Given the description of an element on the screen output the (x, y) to click on. 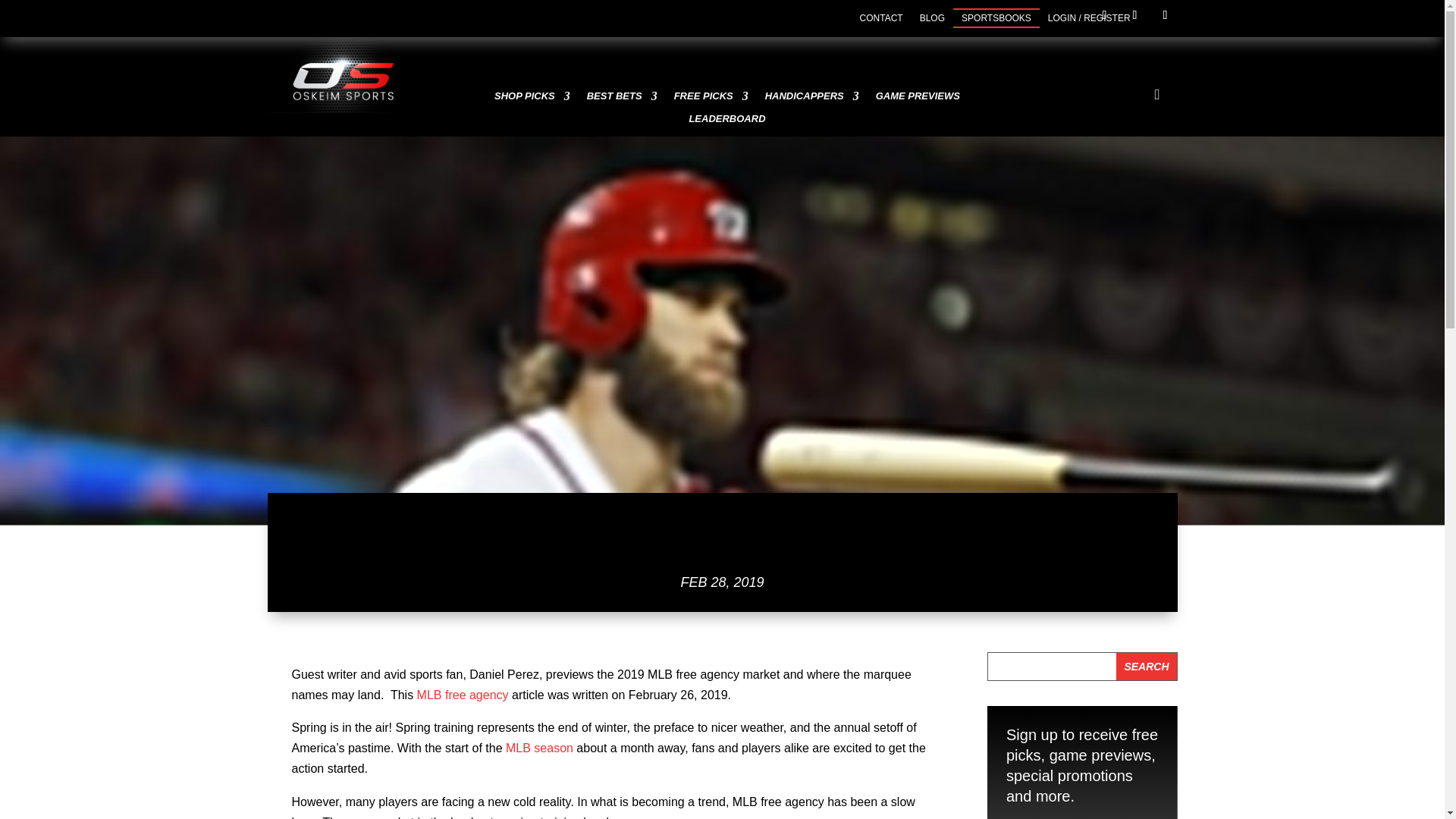
SHOP PICKS (532, 98)
BLOG (932, 17)
Follow on X (1134, 15)
Follow on Instagram (1164, 15)
CONTACT (881, 17)
FREE PICKS (711, 98)
Search (1146, 666)
SPORTSBOOKS (995, 17)
Search (1146, 666)
BEST BETS (622, 98)
